Given the description of an element on the screen output the (x, y) to click on. 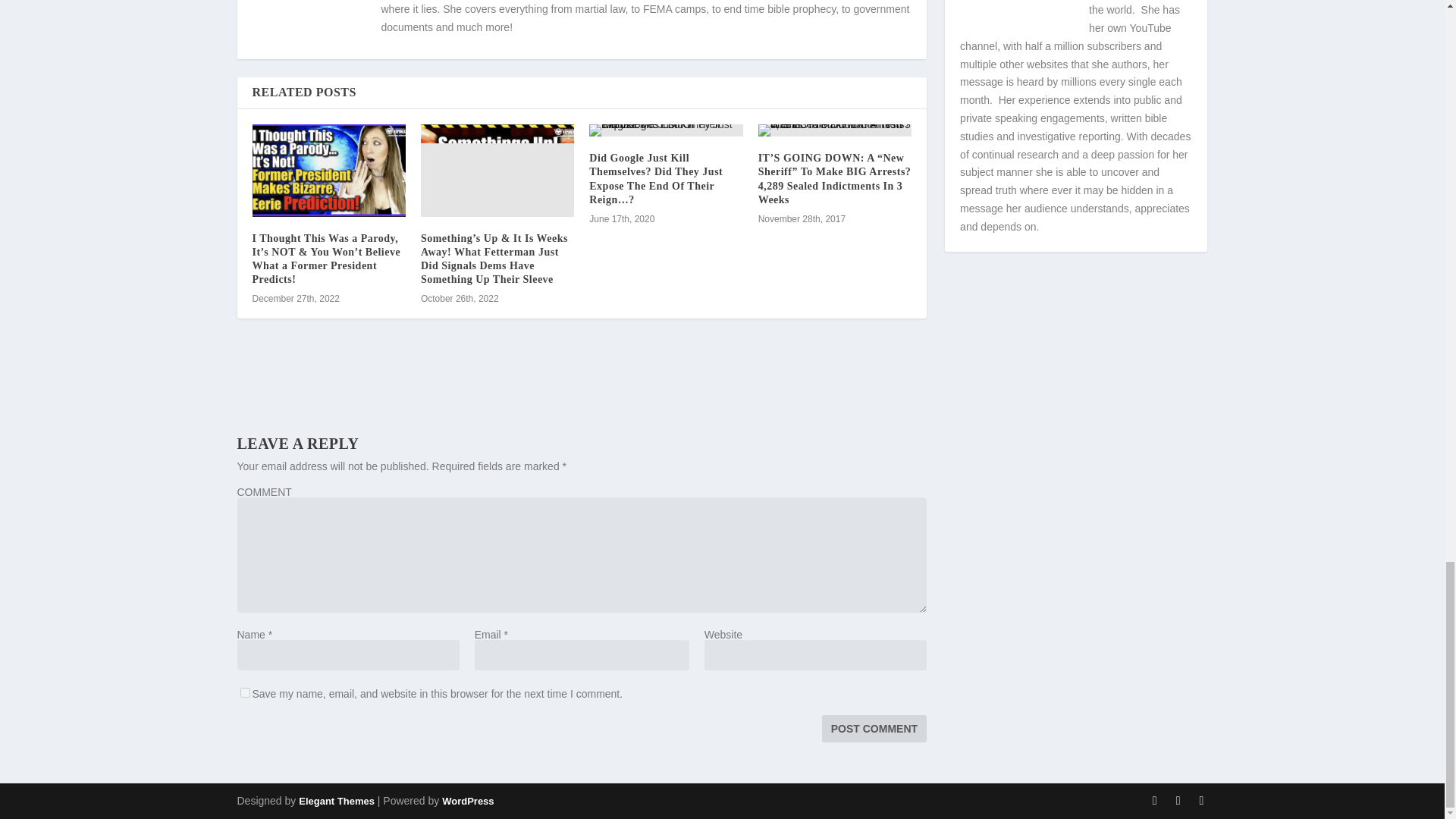
yes (244, 692)
Post Comment (874, 728)
